Given the description of an element on the screen output the (x, y) to click on. 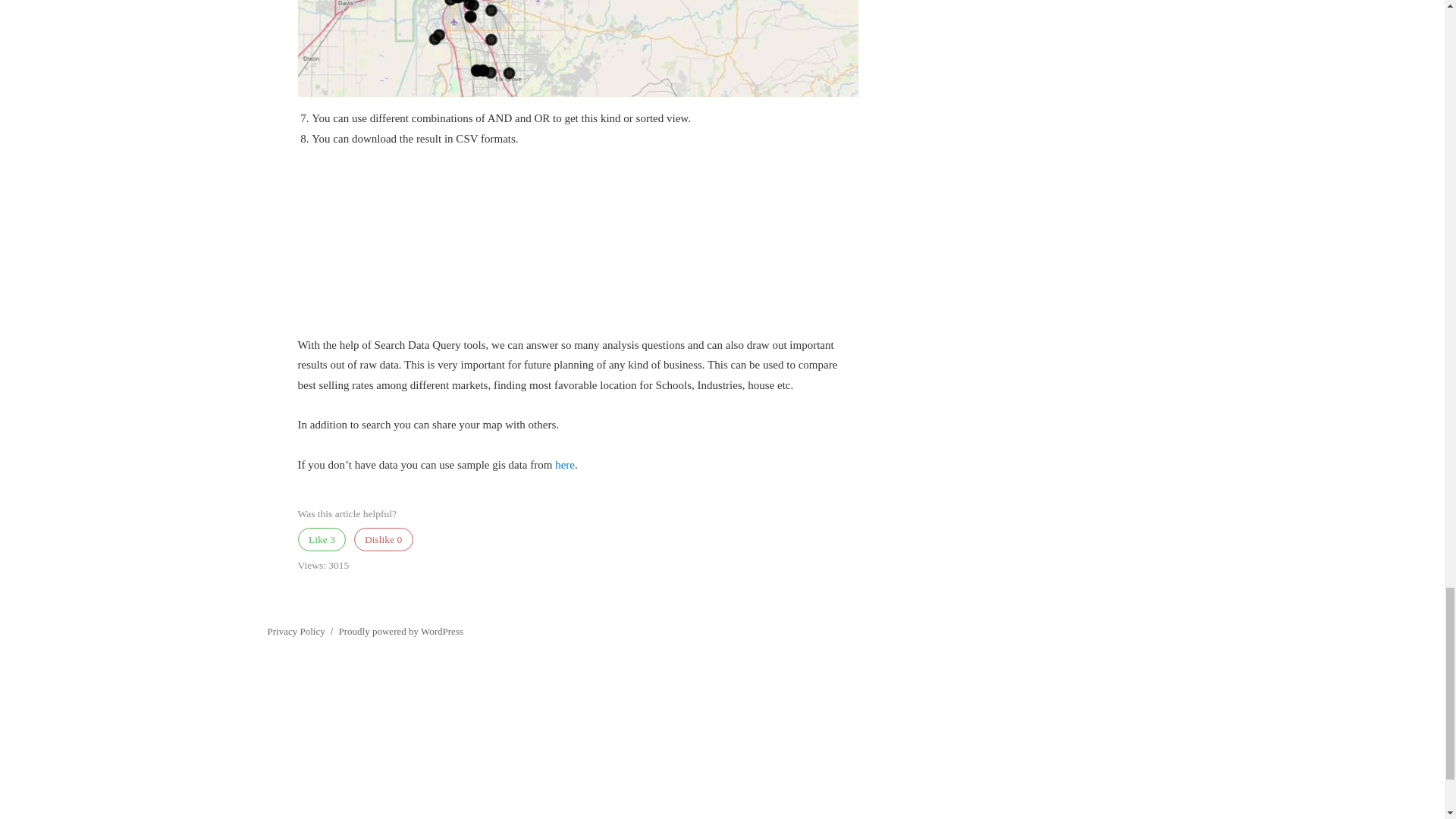
here (564, 464)
Like (321, 539)
Dislike 0 (382, 539)
Like 3 (321, 539)
Privacy Policy (295, 631)
Proudly powered by WordPress (401, 631)
Dislike (382, 539)
